Given the description of an element on the screen output the (x, y) to click on. 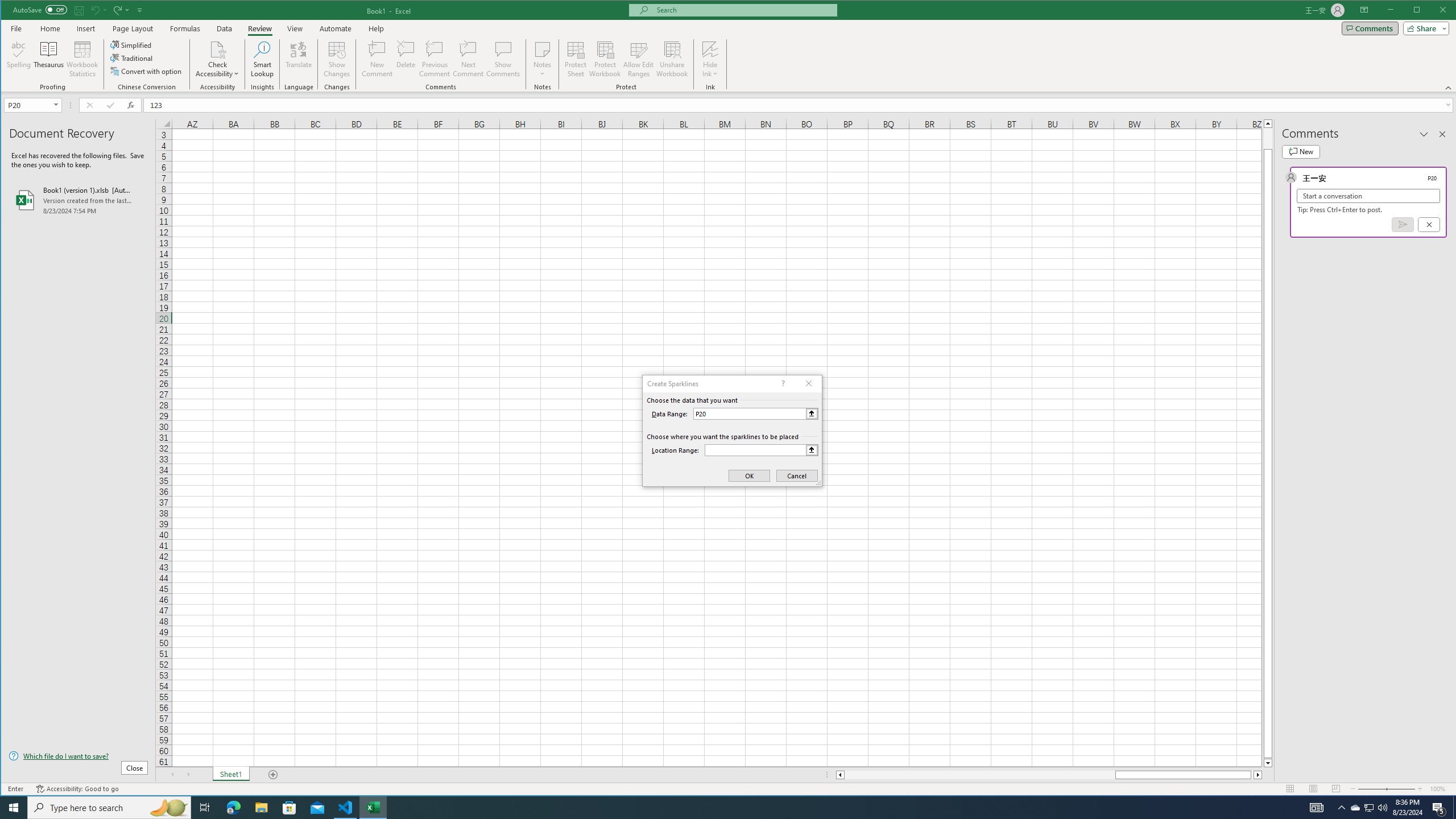
Unshare Workbook (671, 59)
Notes (541, 59)
Start a conversation (1368, 195)
Protect Sheet... (575, 59)
Translate (298, 59)
Thesaurus... (48, 59)
